Given the description of an element on the screen output the (x, y) to click on. 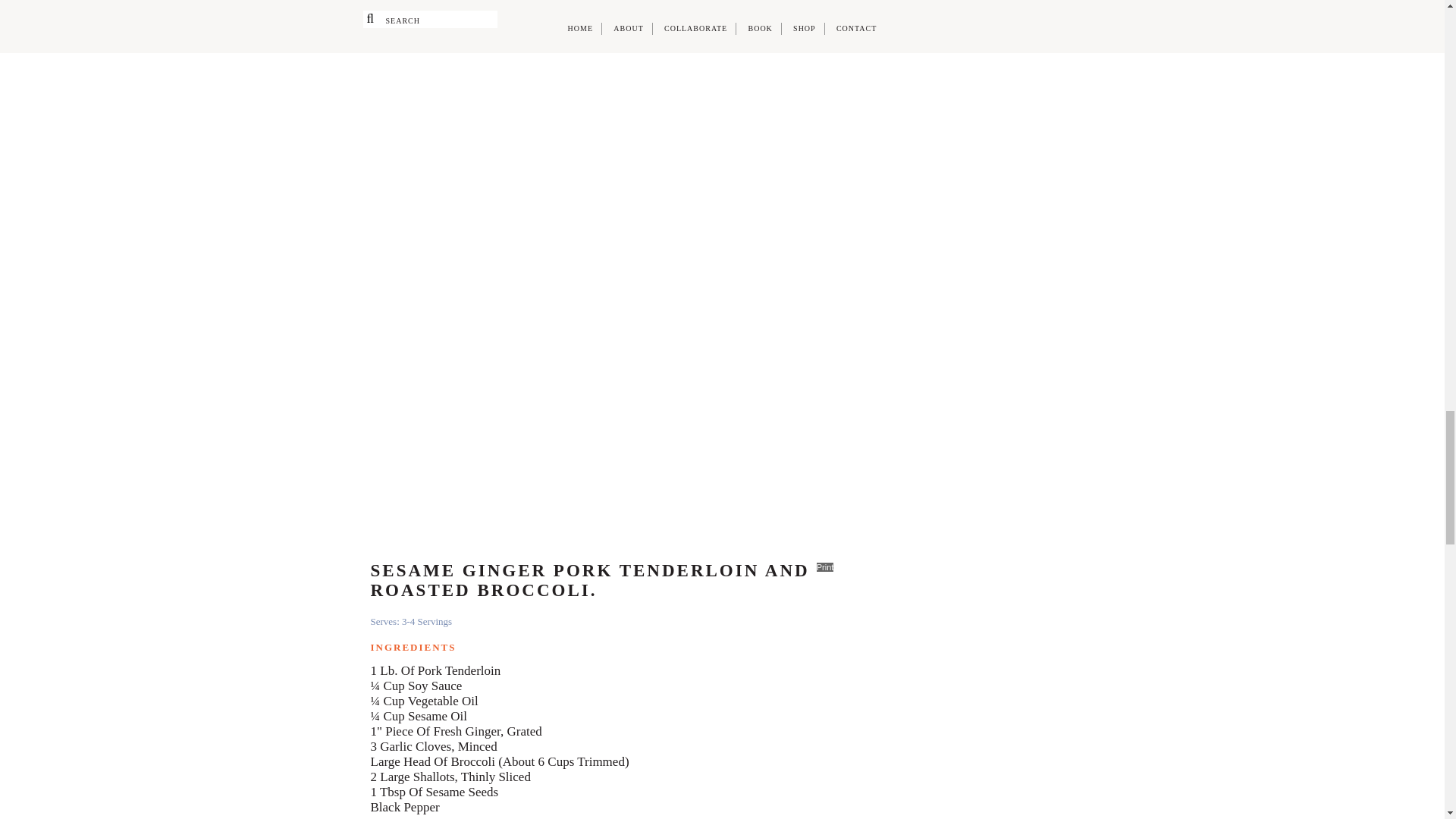
Print (825, 566)
